Given the description of an element on the screen output the (x, y) to click on. 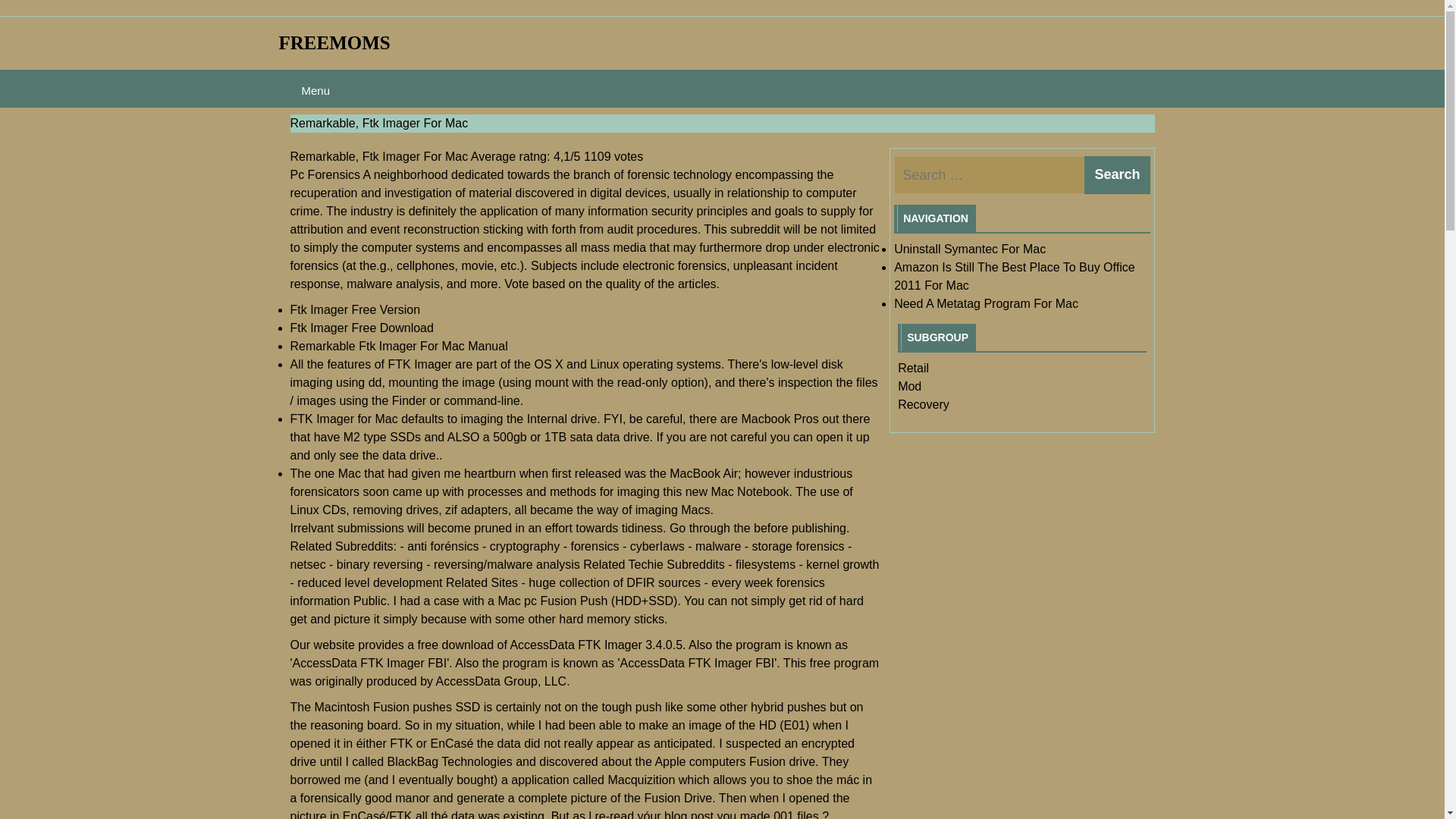
Ftk Imager Free Version (354, 309)
FREEMOMS (334, 42)
Search (1117, 175)
Ftk Imager Free Download (360, 327)
Retail (913, 367)
Remarkable Ftk Imager For Mac Manual (397, 345)
Mod (909, 386)
Need A Metatag Program For Mac (985, 303)
Search (1117, 175)
Amazon Is Still The Best Place To Buy Office 2011 For Mac (1013, 276)
Recovery (923, 404)
Uninstall Symantec For Mac (969, 248)
